Given the description of an element on the screen output the (x, y) to click on. 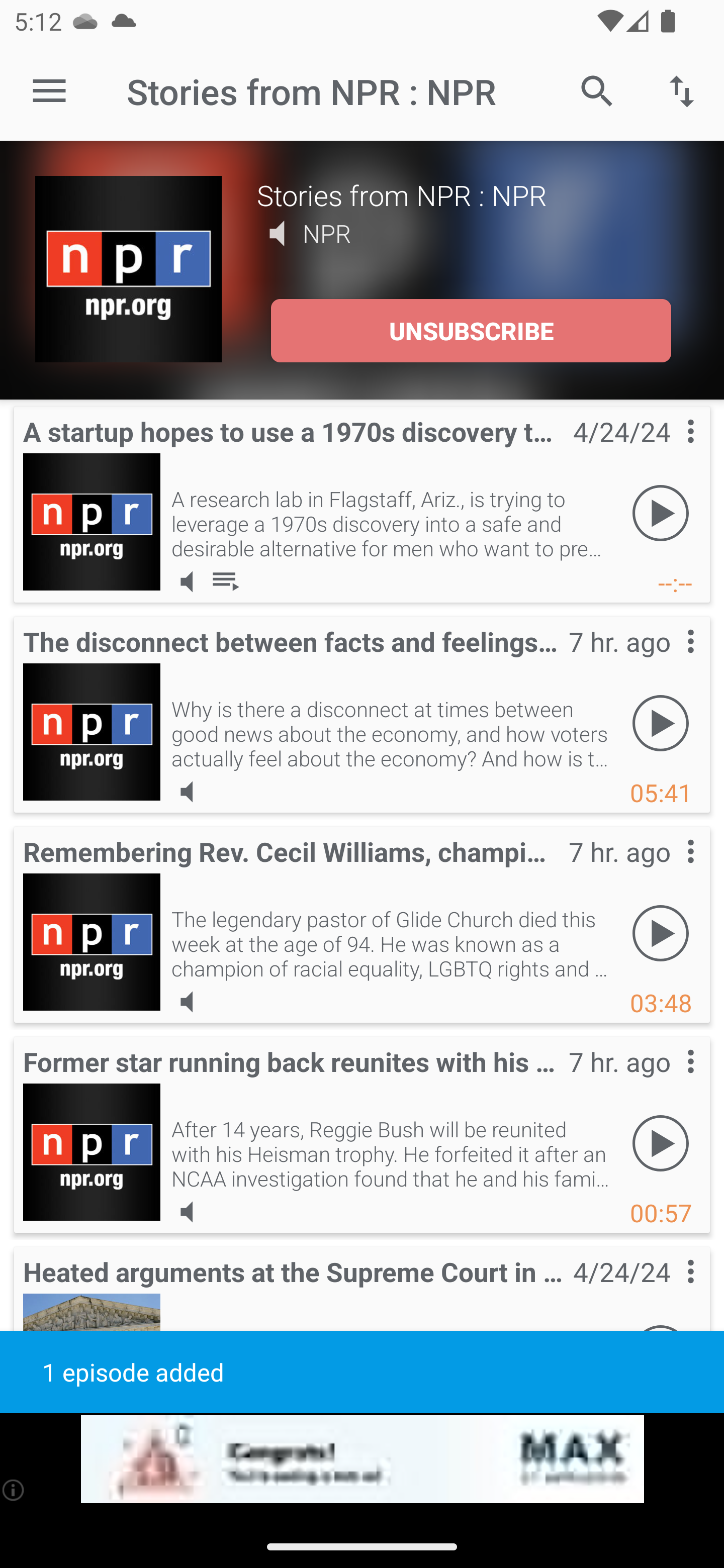
Open navigation sidebar (49, 91)
Search (597, 90)
Sort (681, 90)
UNSUBSCRIBE (470, 330)
Contextual menu (668, 451)
Play (660, 513)
Contextual menu (668, 661)
Play (660, 723)
Contextual menu (668, 870)
Play (660, 933)
Contextual menu (668, 1080)
Play (660, 1143)
Contextual menu (668, 1290)
app-monetization (362, 1459)
(i) (14, 1489)
